Given the description of an element on the screen output the (x, y) to click on. 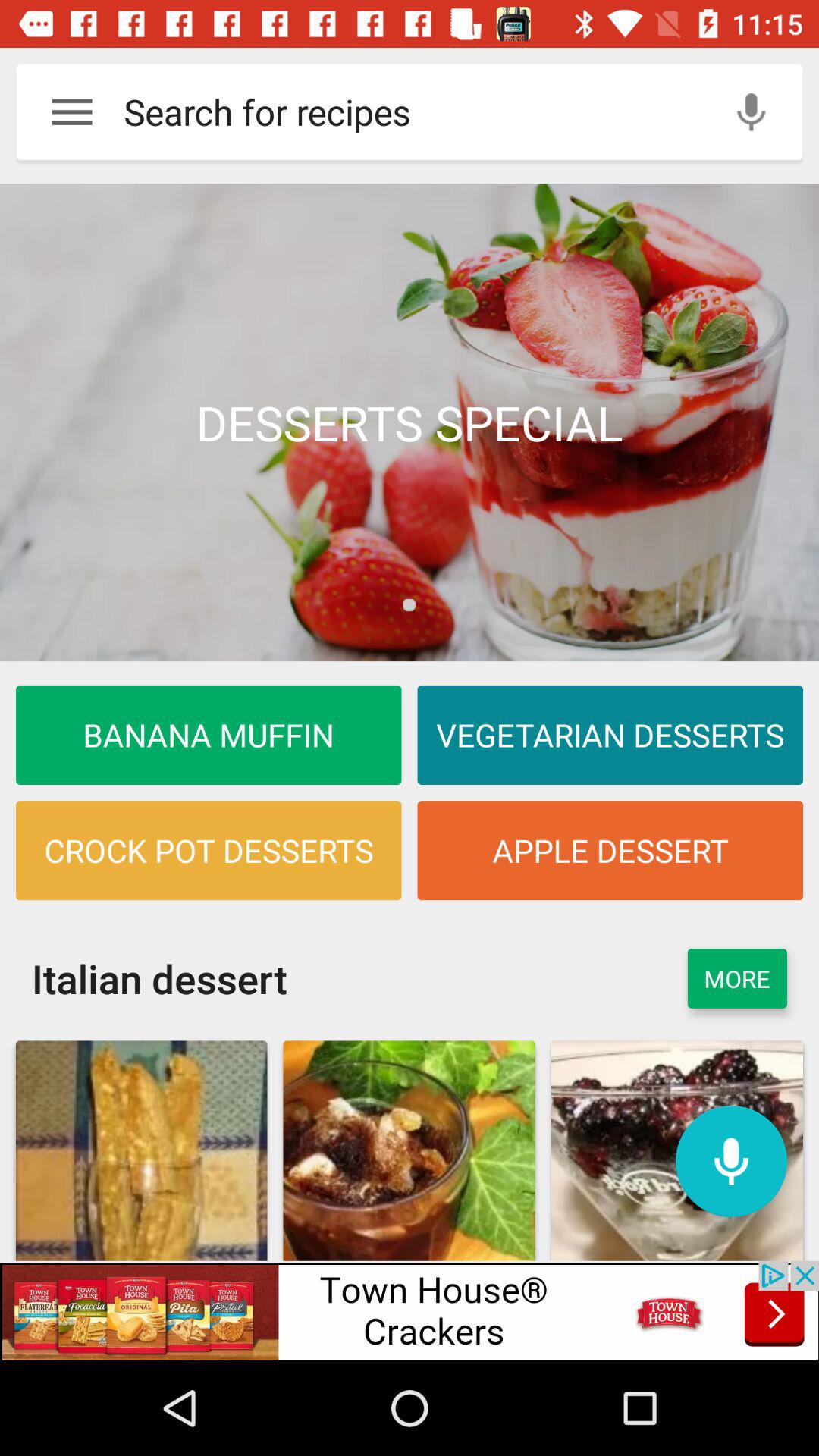
desserts (409, 422)
